Given the description of an element on the screen output the (x, y) to click on. 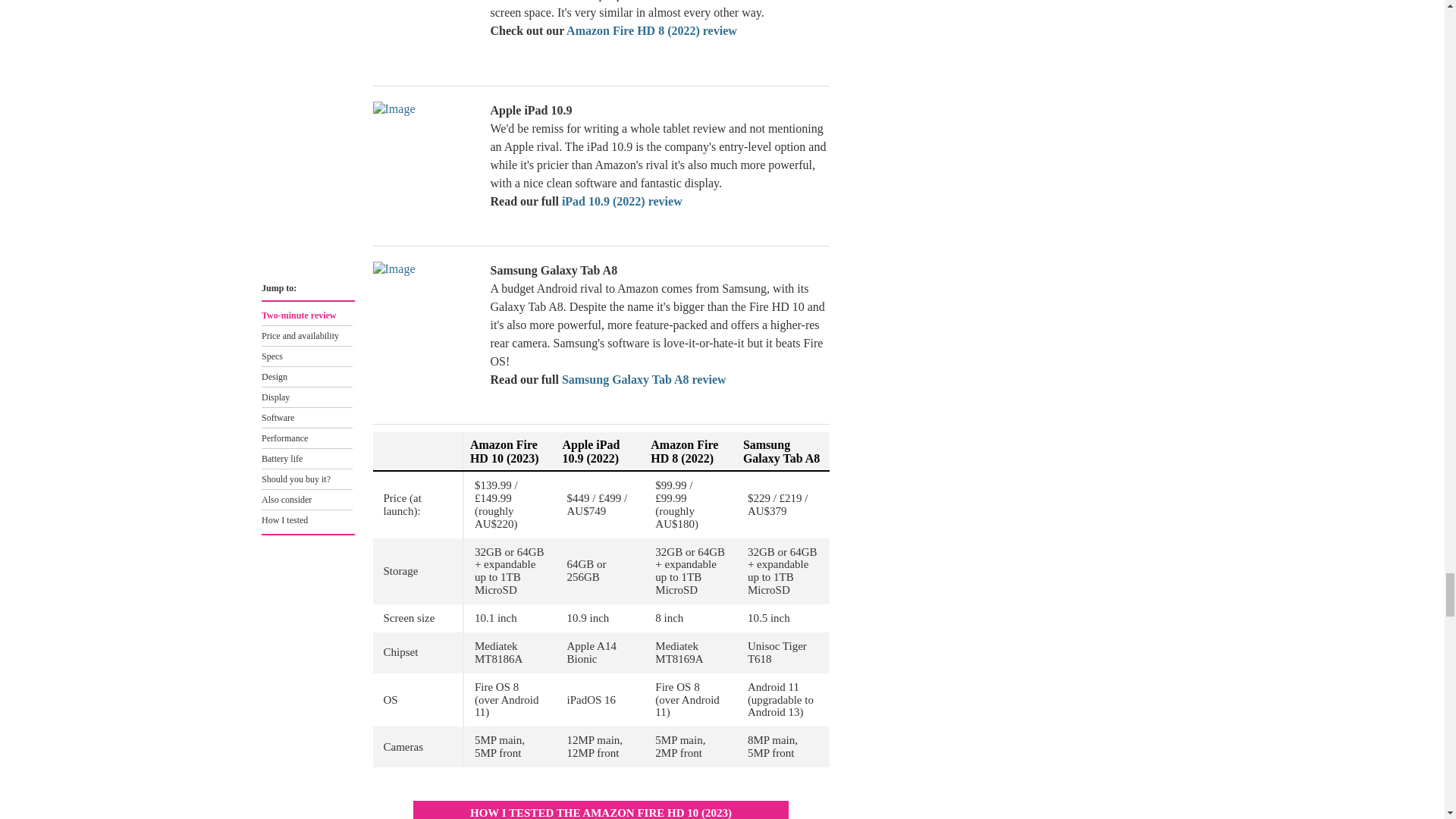
Image (425, 158)
Image (425, 31)
Image (425, 318)
